Given the description of an element on the screen output the (x, y) to click on. 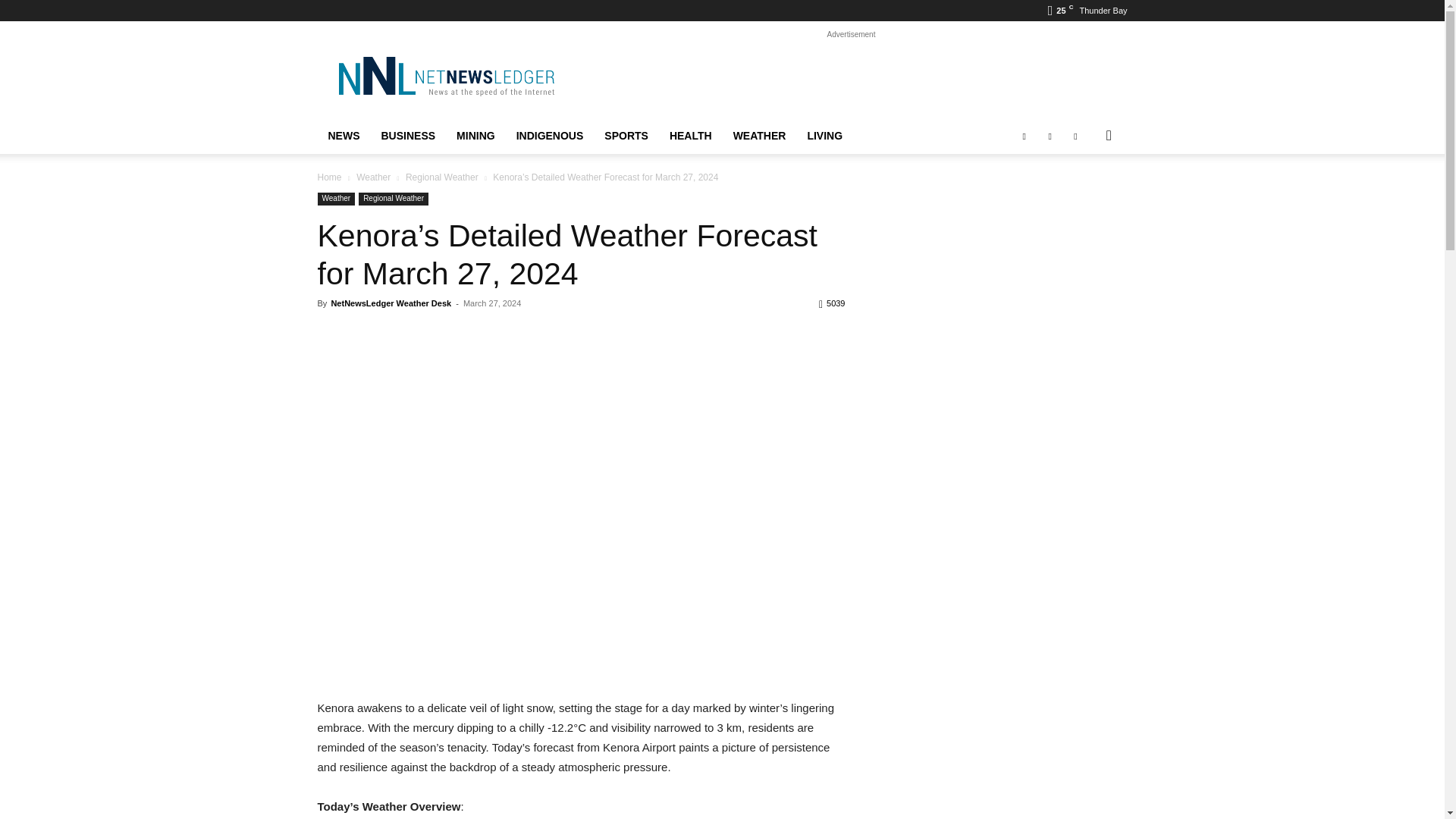
NetNewsLedger (445, 76)
View all posts in Regional Weather (442, 176)
View all posts in Weather (373, 176)
